Given the description of an element on the screen output the (x, y) to click on. 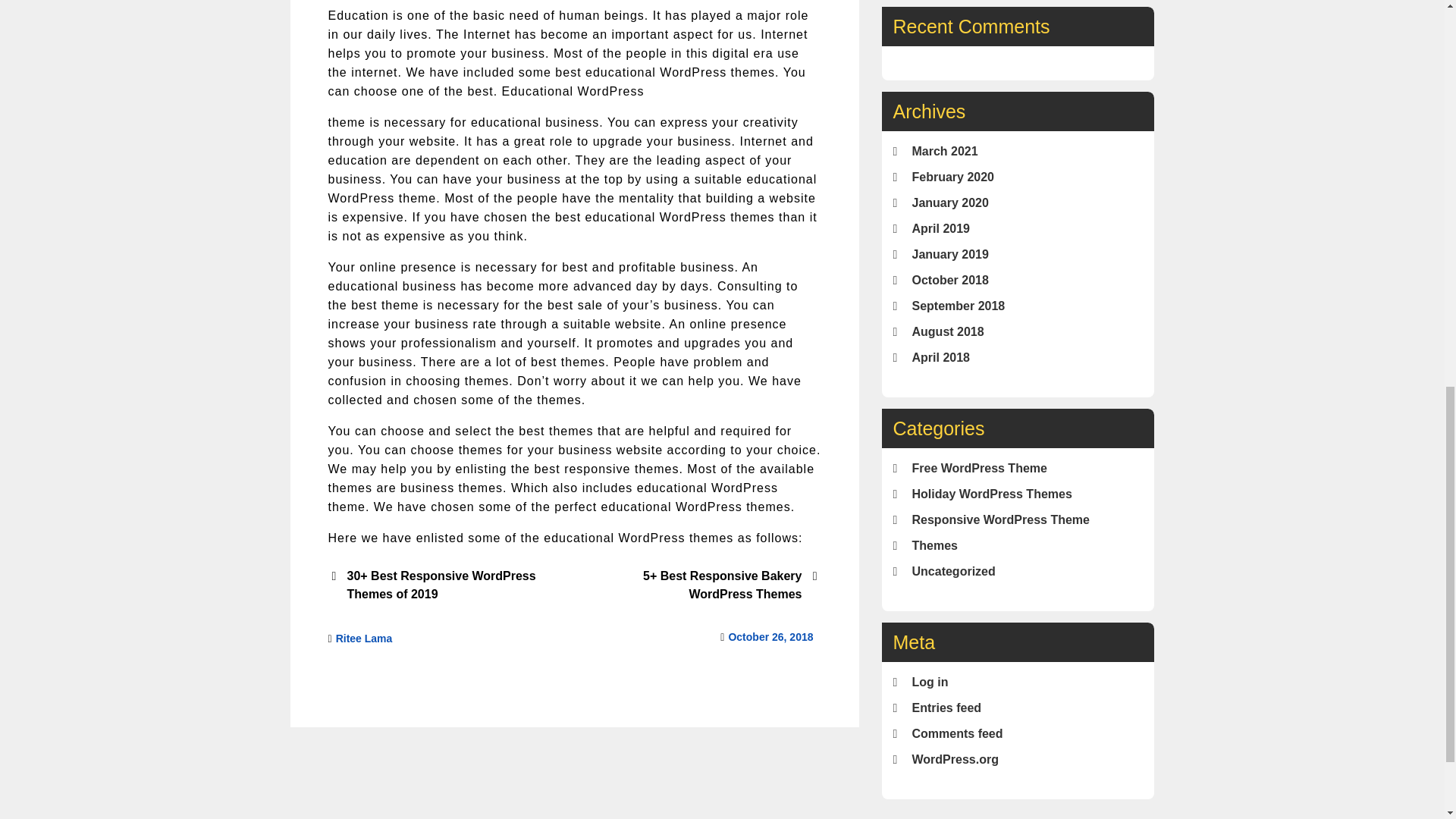
Themes (933, 545)
February 2020 (952, 176)
January 2019 (949, 254)
Entries feed (946, 707)
October 26, 2018 (770, 636)
Uncategorized (952, 571)
August 2018 (947, 331)
Log in (929, 681)
March 2021 (943, 151)
Responsive WordPress Theme (1000, 519)
